Given the description of an element on the screen output the (x, y) to click on. 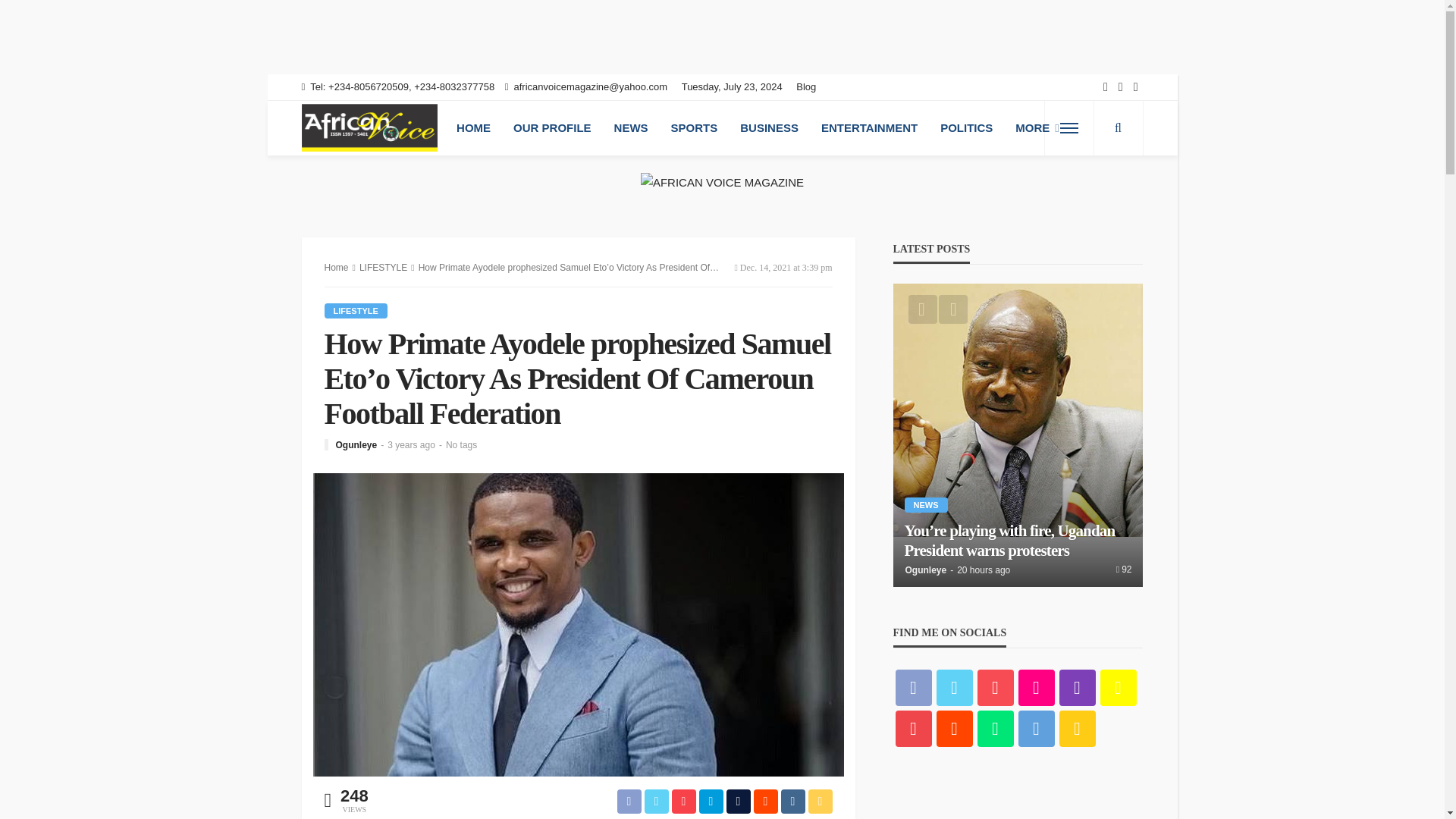
BUSINESS (769, 126)
LIFESTYLE (383, 267)
NEWS (630, 126)
LIFESTYLE (355, 310)
AFRICAN VOICE MAGAZINE (369, 127)
HOME (473, 126)
OUR PROFILE (552, 126)
ENTERTAINMENT (868, 126)
MORE (1037, 126)
SPORTS (694, 126)
Advertisement (275, 33)
Blog (810, 86)
POLITICS (966, 126)
Home (336, 267)
